Given the description of an element on the screen output the (x, y) to click on. 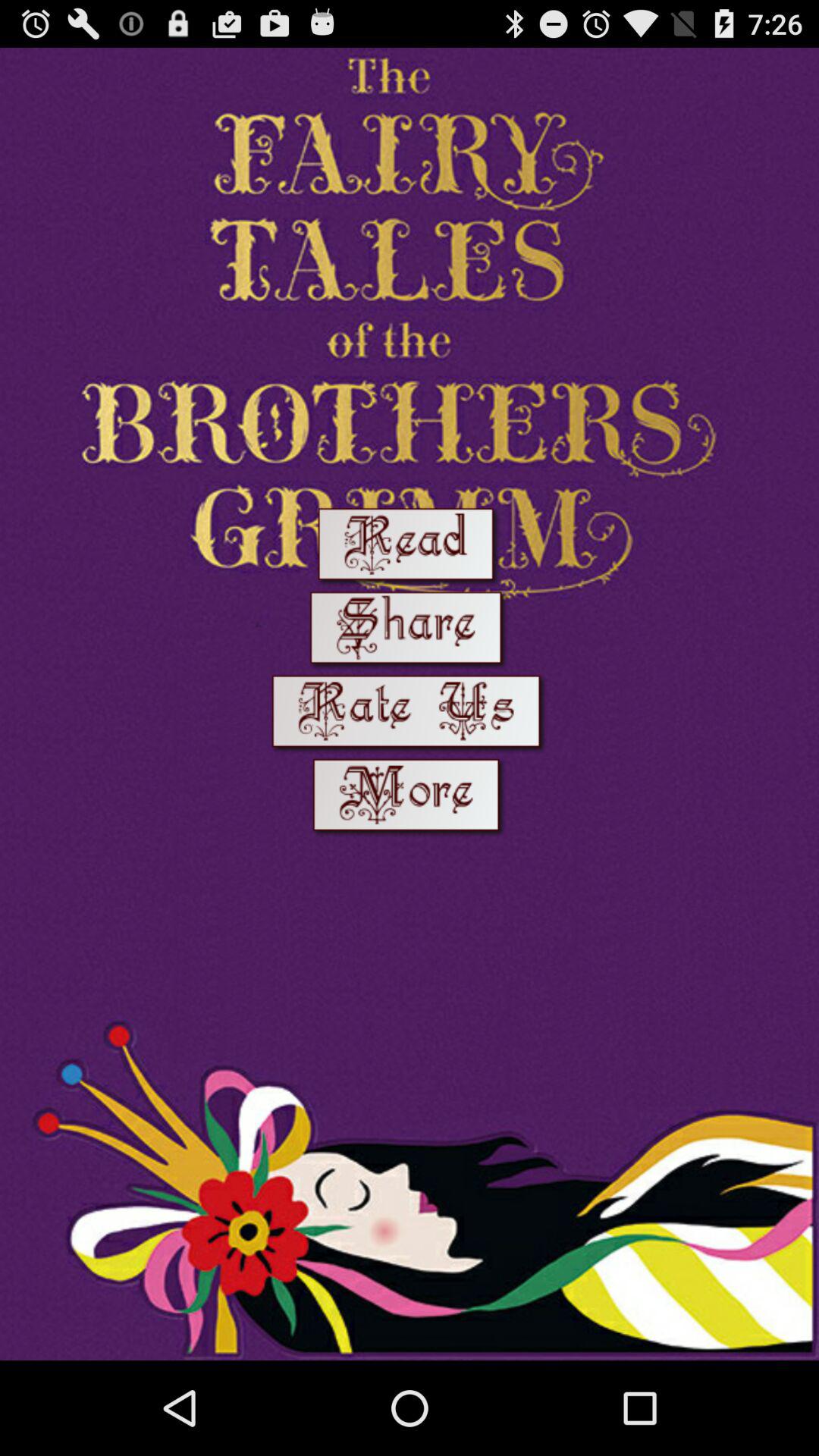
go to share (408, 630)
